Given the description of an element on the screen output the (x, y) to click on. 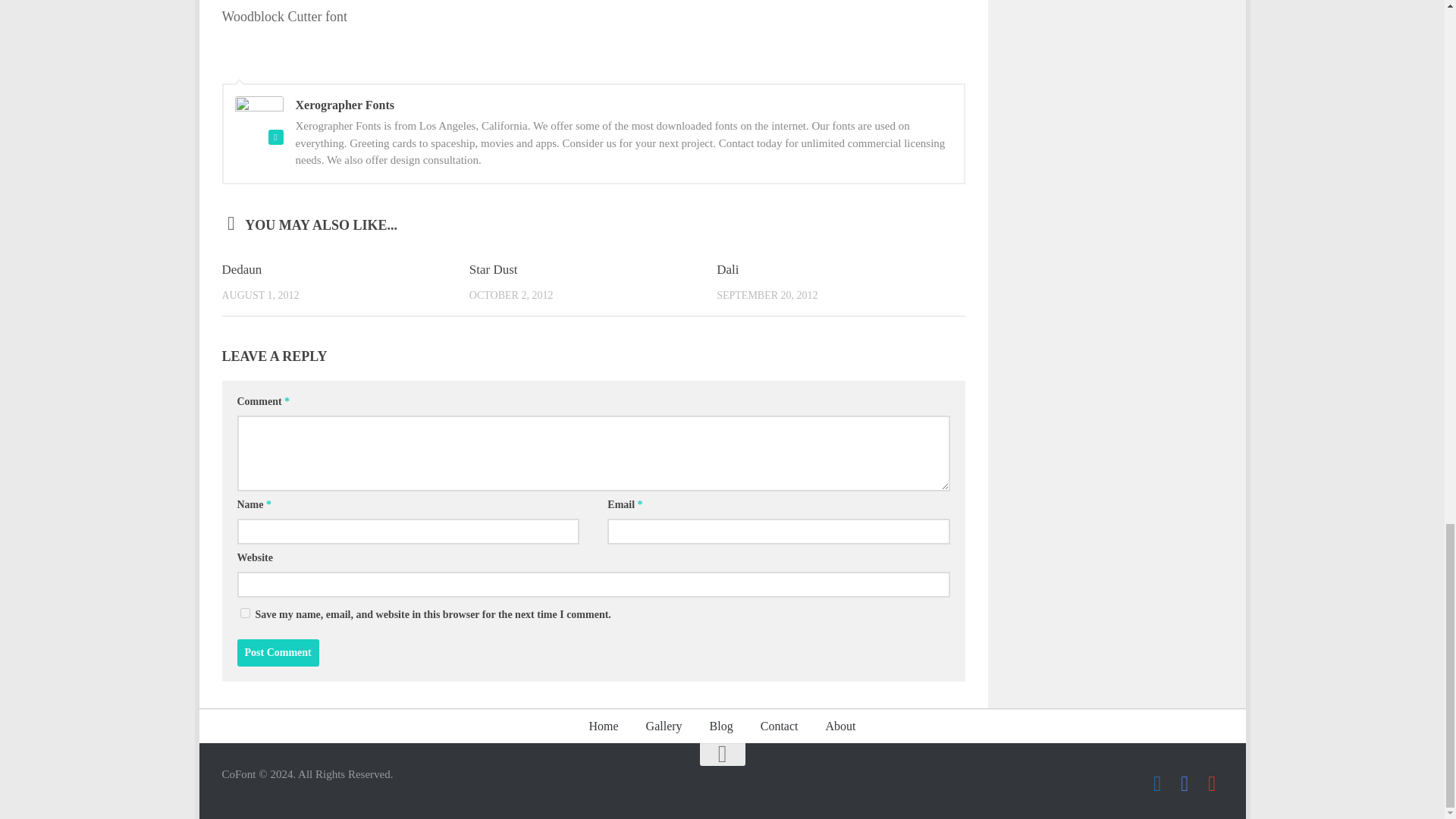
Star Dust (493, 269)
yes (244, 613)
Post Comment (276, 652)
Dedaun (241, 269)
Dali (727, 269)
